Given the description of an element on the screen output the (x, y) to click on. 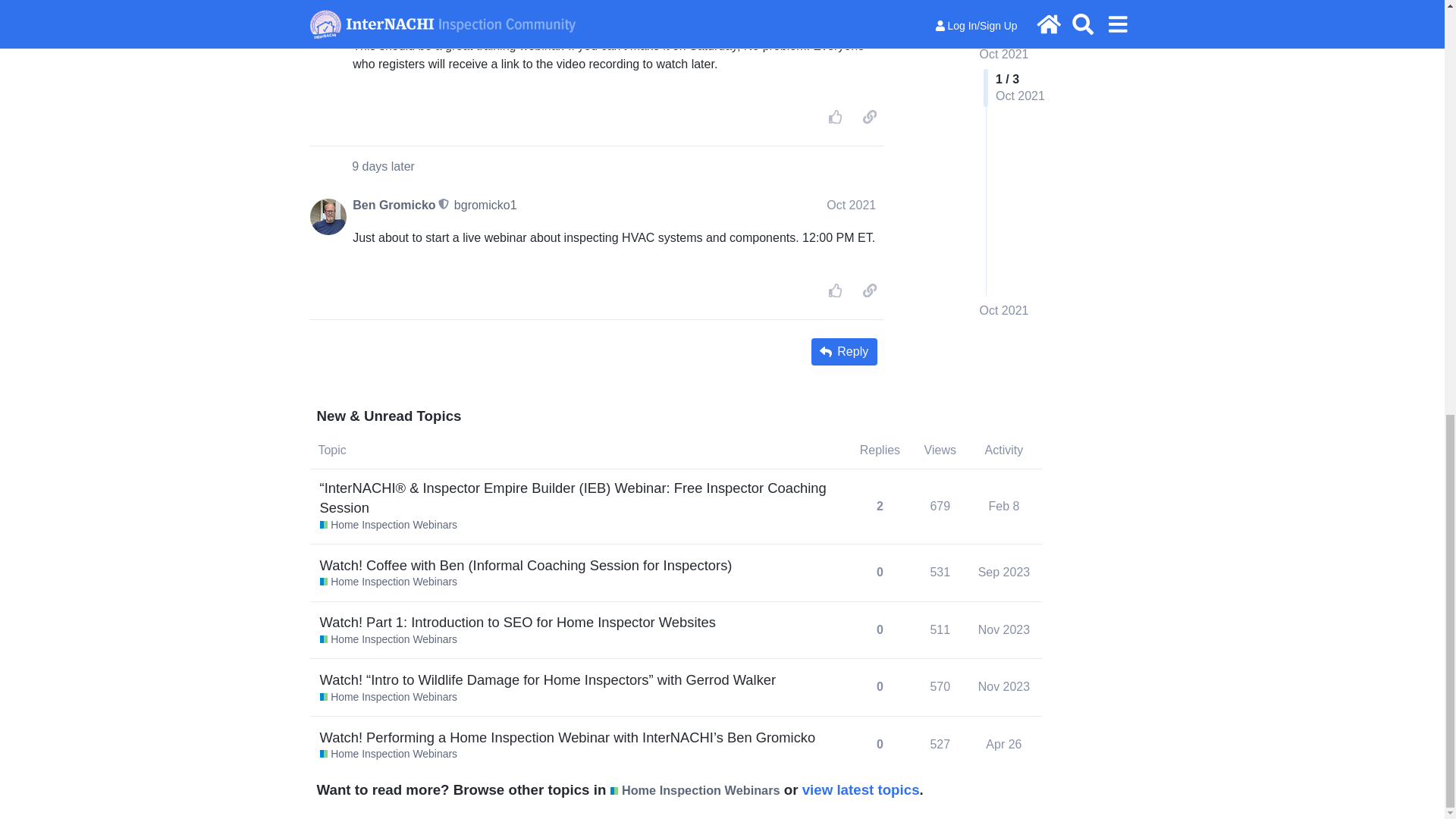
bgromicko1 (485, 205)
bgromicko1 (485, 12)
Oct 2021 (851, 12)
Oct 2021 (851, 205)
Ben Gromicko (393, 205)
Ben Gromicko (393, 13)
